Given the description of an element on the screen output the (x, y) to click on. 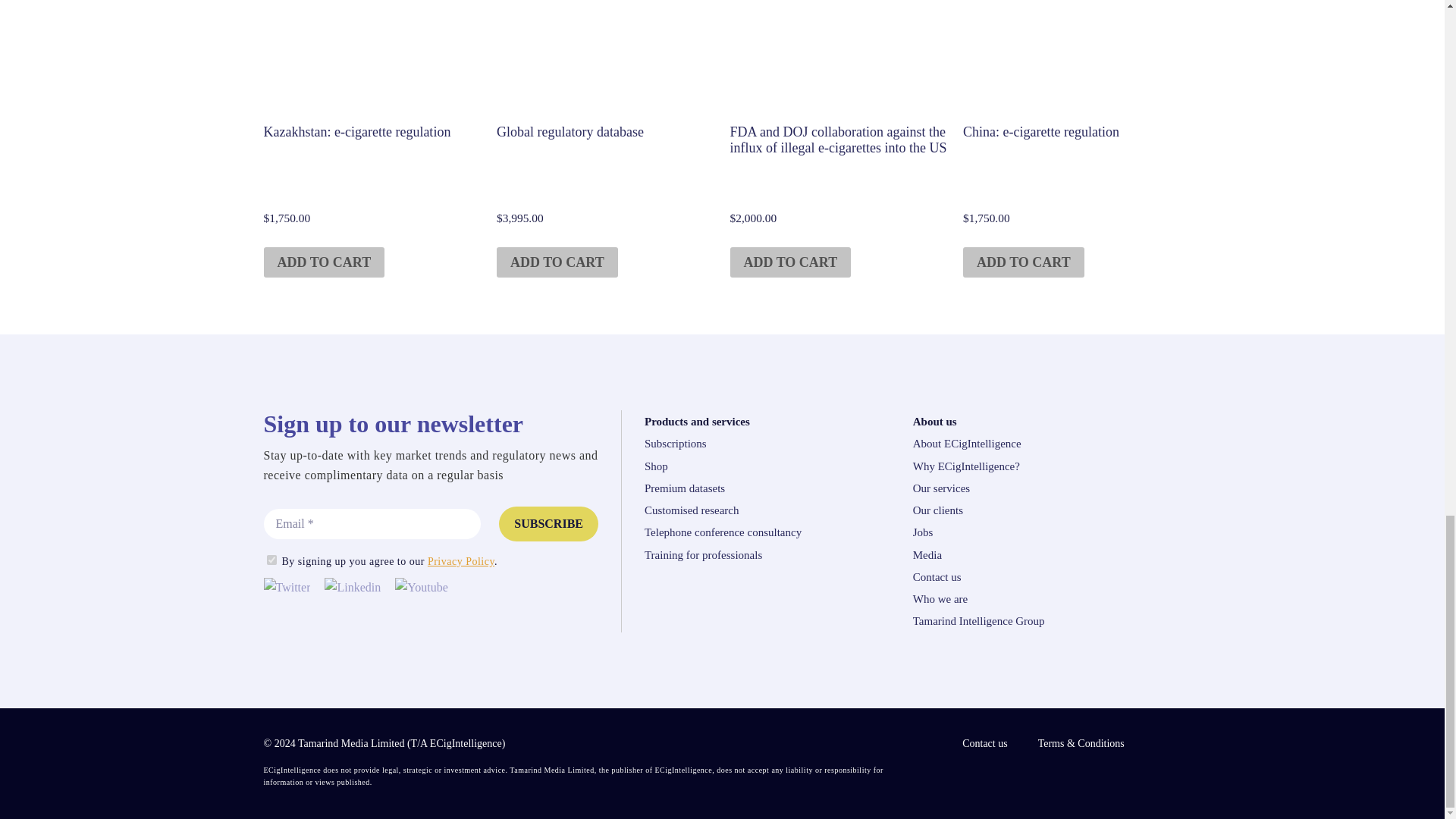
SUBSCRIBE (271, 560)
